Given the description of an element on the screen output the (x, y) to click on. 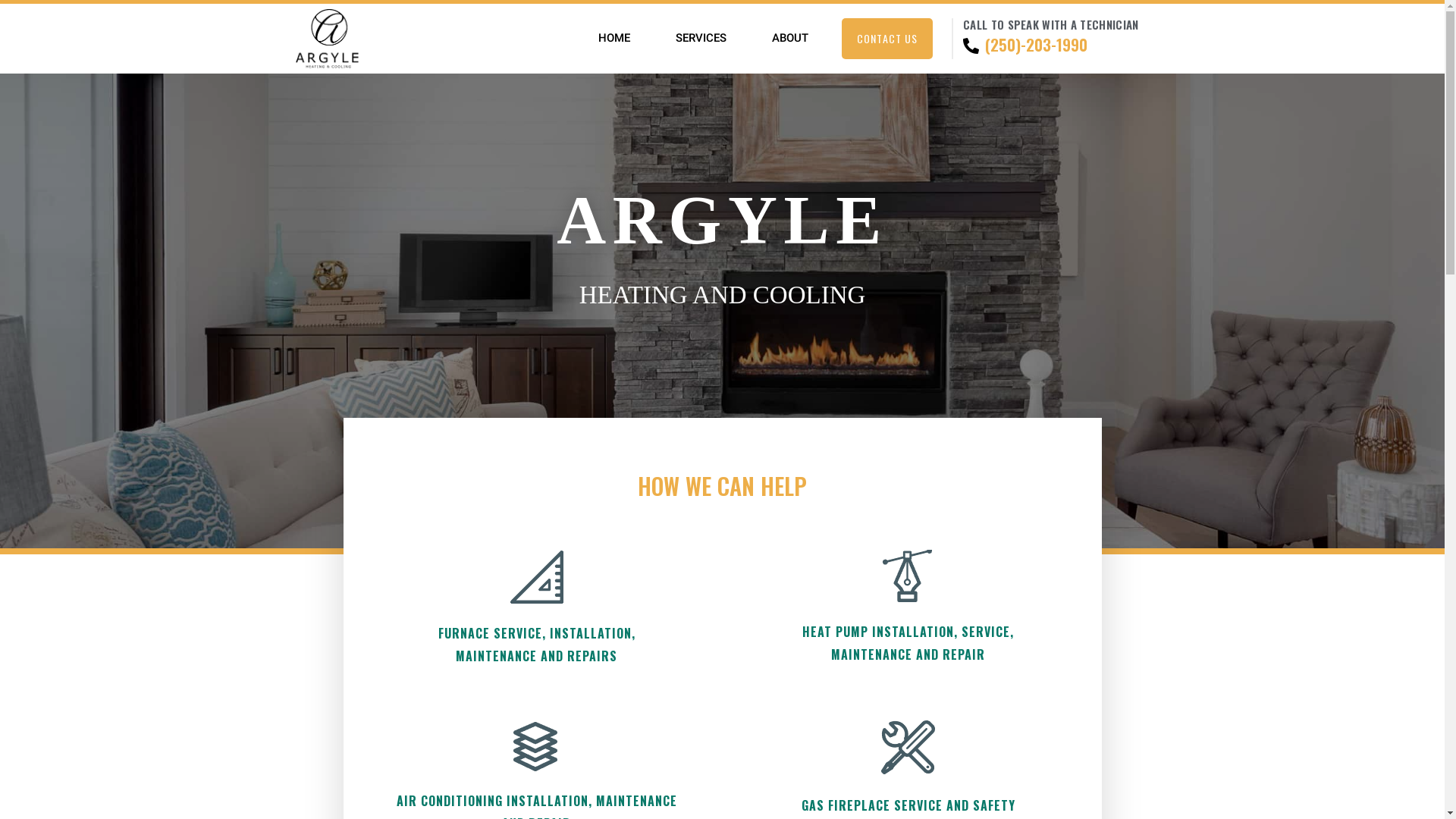
ABOUT Element type: text (790, 37)
(250)-203-1990 Element type: text (1027, 45)
HOME Element type: text (613, 37)
CALL TO SPEAK WITH A TECHNICIAN Element type: text (1050, 23)
SERVICES Element type: text (700, 37)
CONTACT US Element type: text (886, 38)
